Given the description of an element on the screen output the (x, y) to click on. 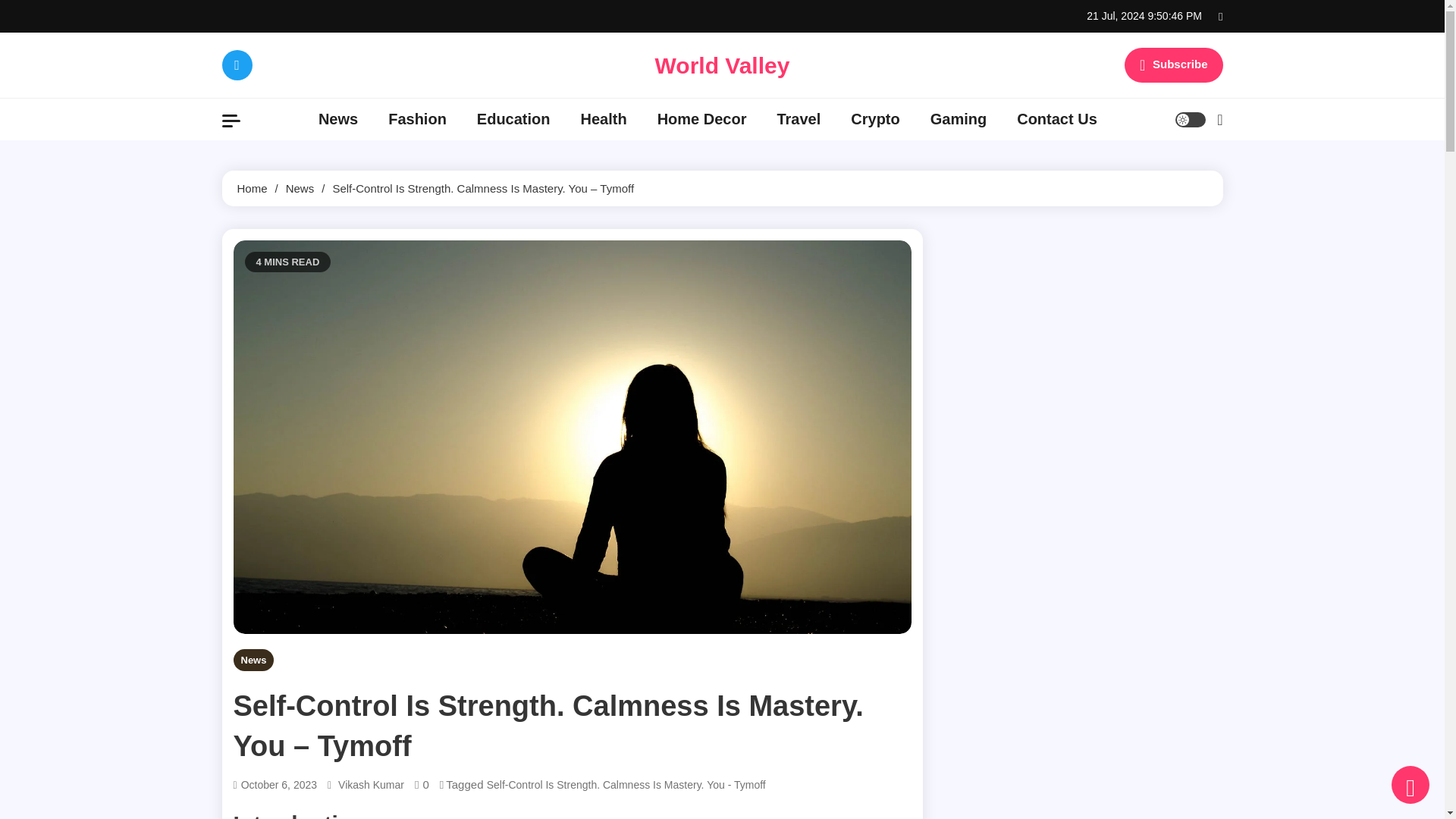
Home Decor (701, 119)
Self-Control Is Strength. Calmness Is Mastery. You - Tymoff (625, 784)
News (299, 187)
Education (513, 119)
Vikash Kumar (370, 784)
Home (250, 187)
News (253, 659)
October 6, 2023 (279, 784)
Crypto (874, 119)
Contact Us (1056, 119)
Gaming (958, 119)
Subscribe (1173, 64)
World Valley (722, 65)
Search (1180, 176)
Fashion (416, 119)
